Given the description of an element on the screen output the (x, y) to click on. 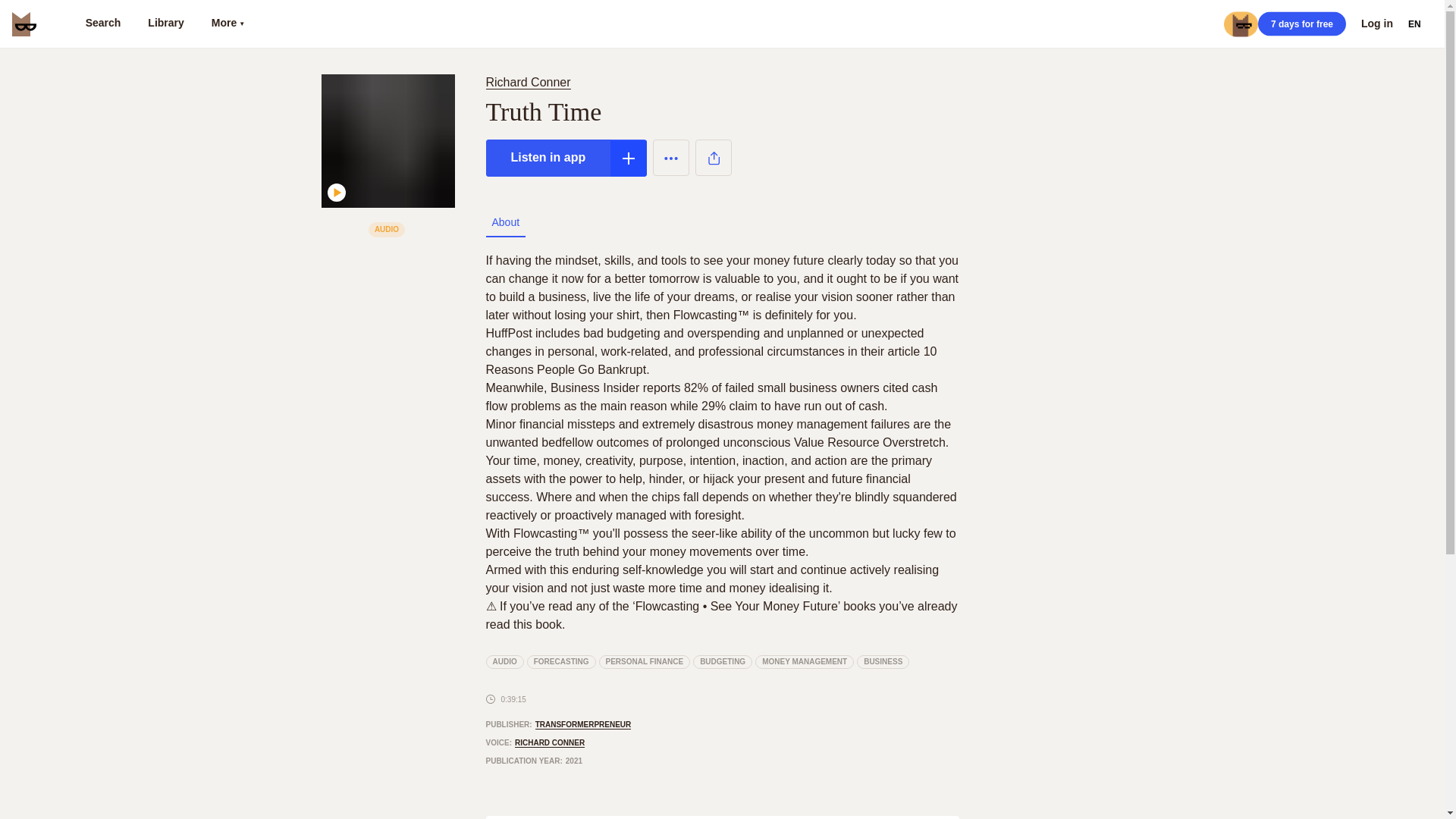
AUDIO (503, 662)
FORECASTING (561, 662)
Richard Conner (530, 82)
RICHARD CONNER (550, 742)
TRANSFORMERPRENEUR (583, 724)
PERSONAL FINANCE (644, 662)
BUDGETING (722, 662)
About (504, 222)
BUSINESS (882, 662)
Richard Conner (527, 82)
7 days for free (1301, 23)
MONEY MANAGEMENT (804, 662)
